Given the description of an element on the screen output the (x, y) to click on. 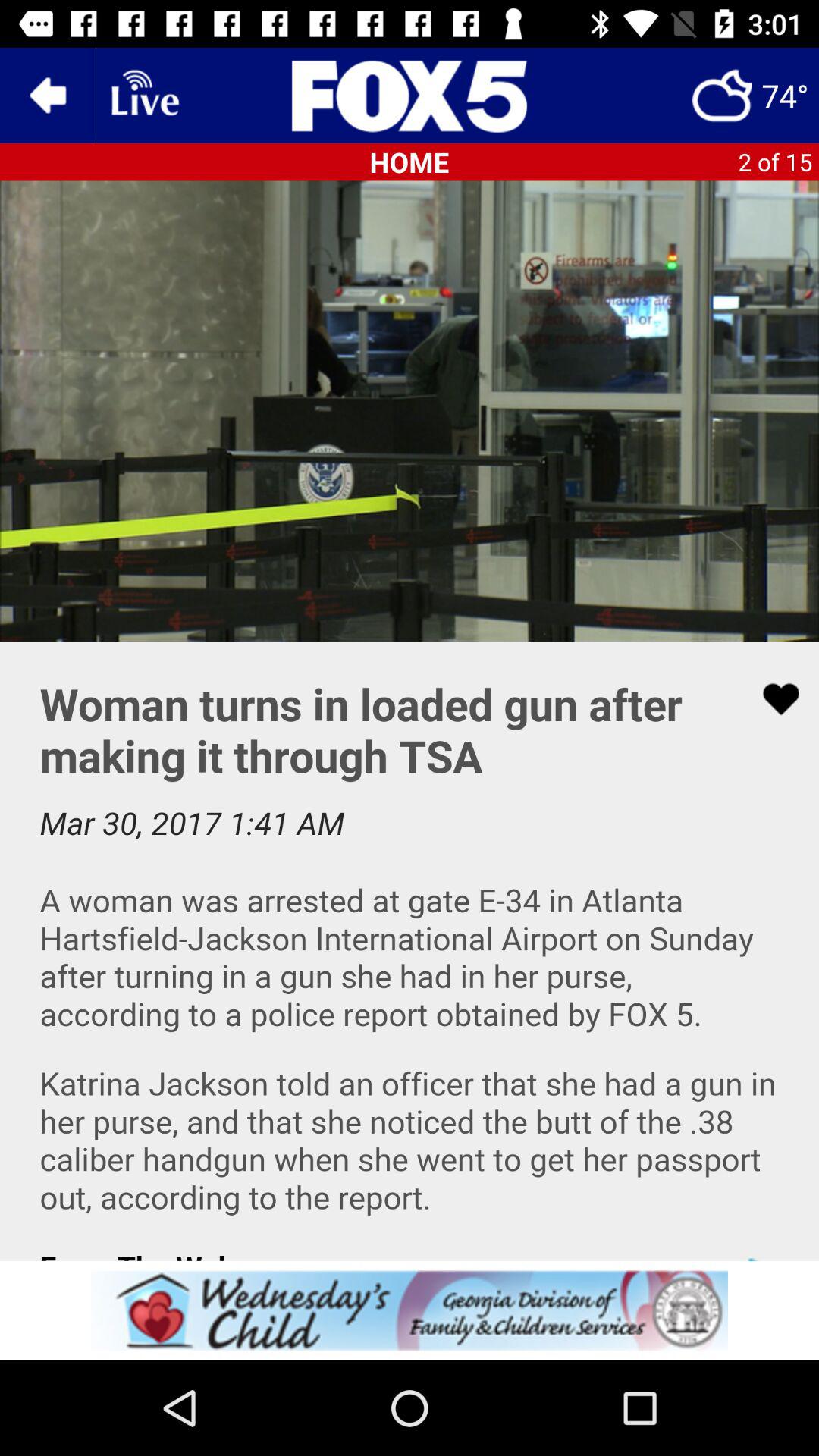
go to this advertised service (409, 1310)
